Given the description of an element on the screen output the (x, y) to click on. 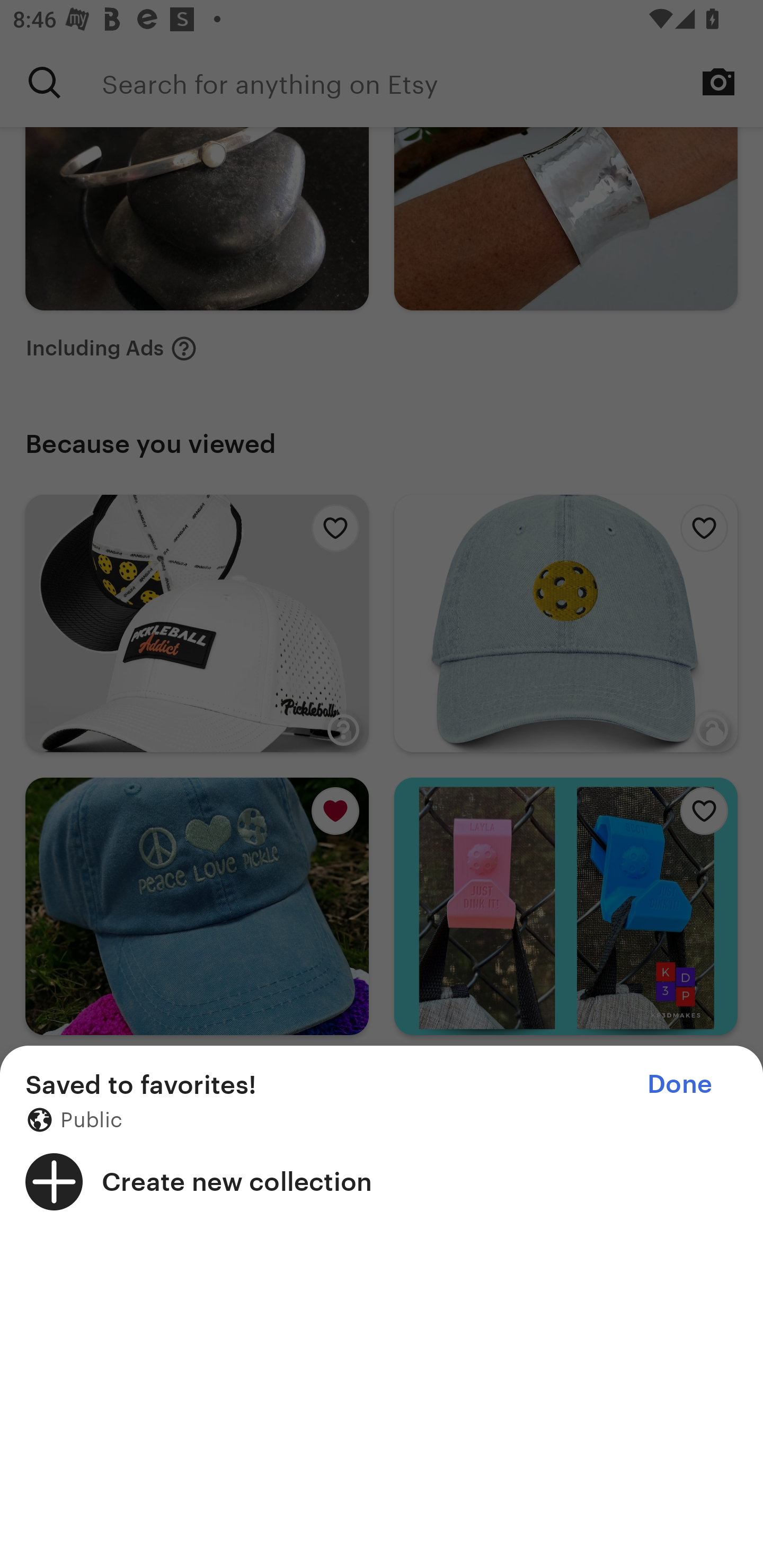
Done (679, 1083)
Create new collection (381, 1181)
